Given the description of an element on the screen output the (x, y) to click on. 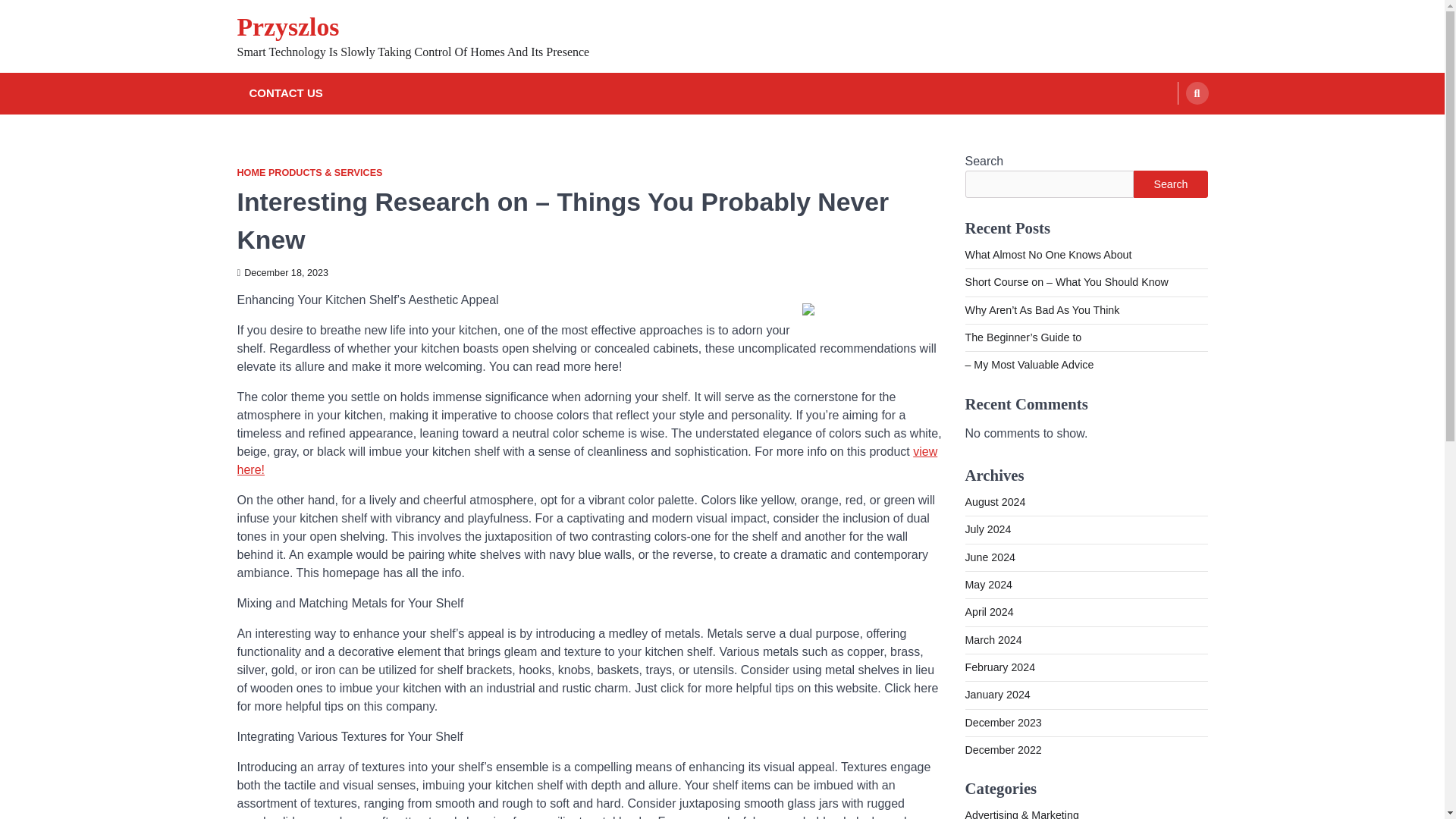
April 2024 (988, 612)
Search (1170, 184)
view here! (586, 460)
January 2024 (996, 694)
August 2024 (994, 501)
CONTACT US (286, 93)
Search (1197, 92)
Przyszlos (287, 26)
June 2024 (988, 557)
What Almost No One Knows About (1047, 254)
